Given the description of an element on the screen output the (x, y) to click on. 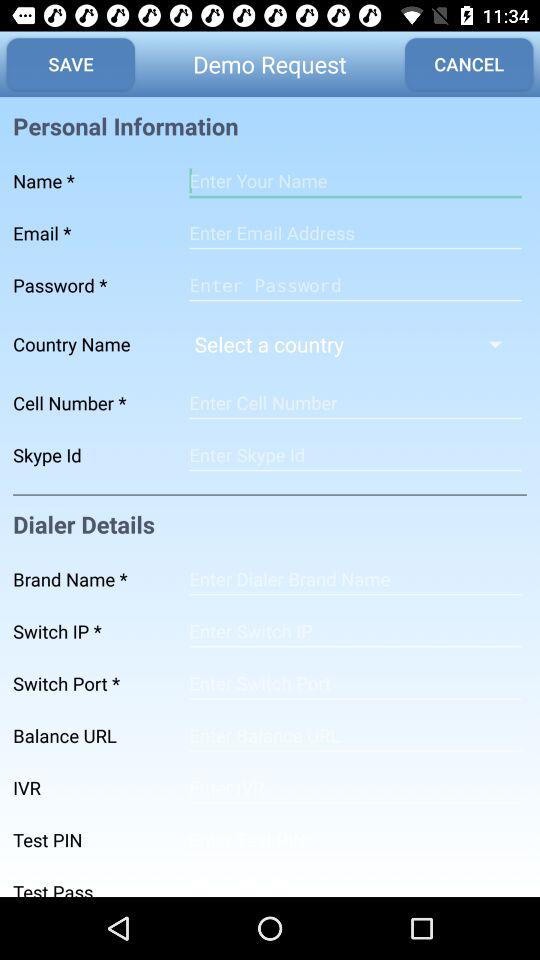
new pega (355, 285)
